Given the description of an element on the screen output the (x, y) to click on. 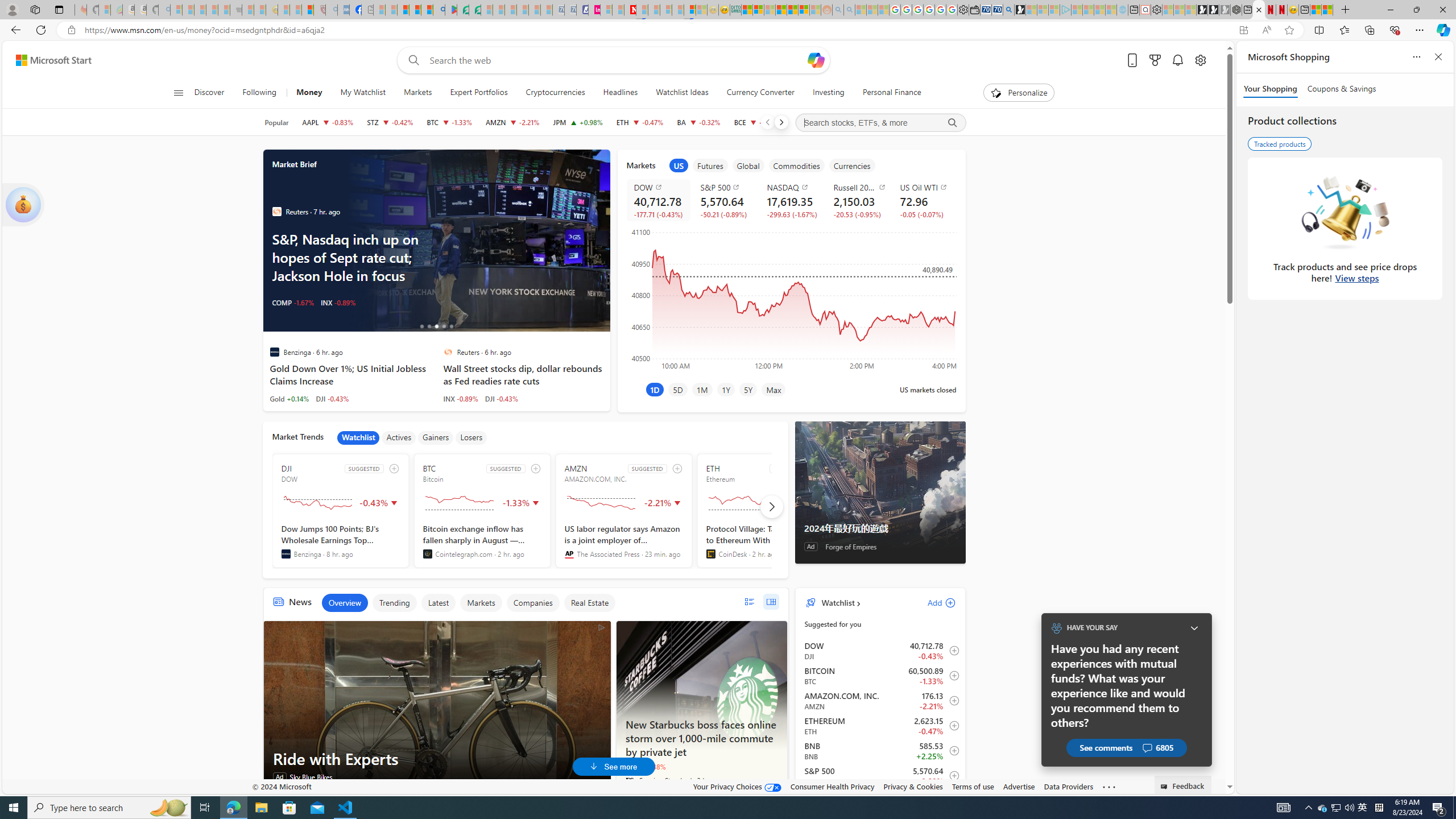
Oil edges higher after back-to-back weekly gains (476, 240)
Watchlist Ideas (681, 92)
Privacy & Cookies (913, 785)
Real Estate (589, 602)
Headlines (619, 92)
Expert Portfolios (781, 9)
New Report Confirms 2023 Was Record Hot | Watch - Sleeping (223, 9)
